Given the description of an element on the screen output the (x, y) to click on. 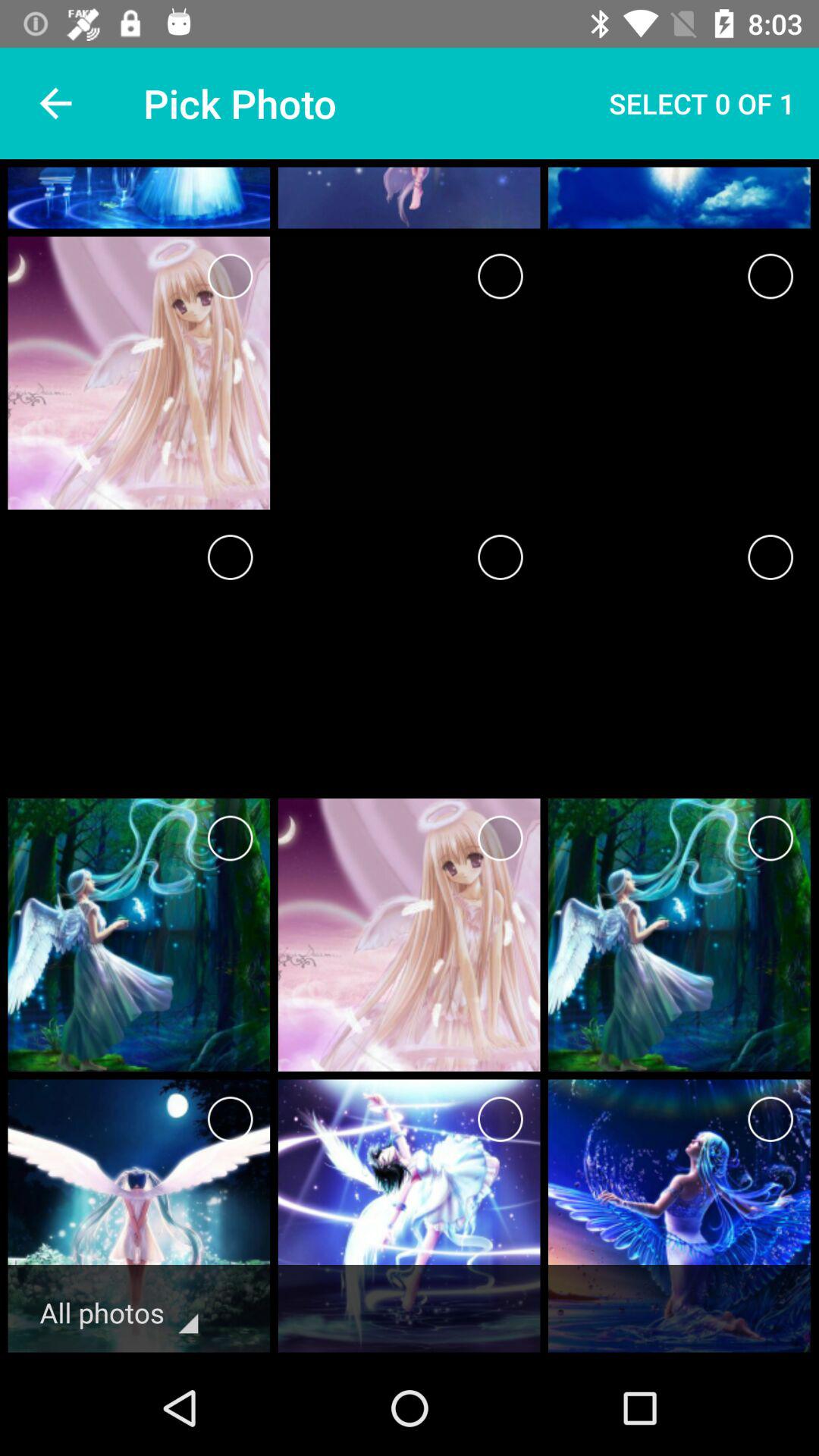
select photo (500, 1119)
